Given the description of an element on the screen output the (x, y) to click on. 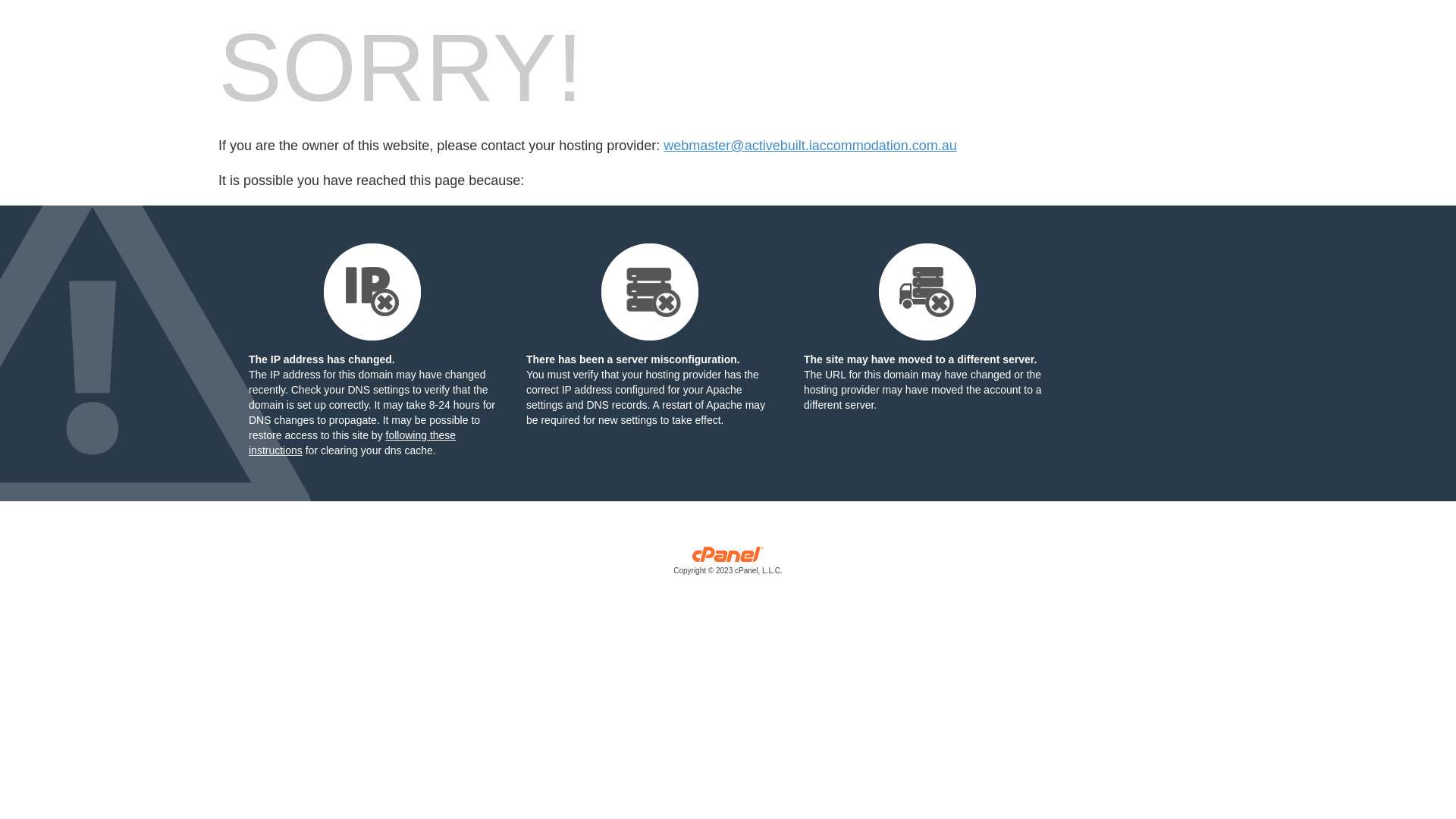
following these instructions Element type: text (351, 442)
webmaster@activebuilt.iaccommodation.com.au Element type: text (809, 145)
